Given the description of an element on the screen output the (x, y) to click on. 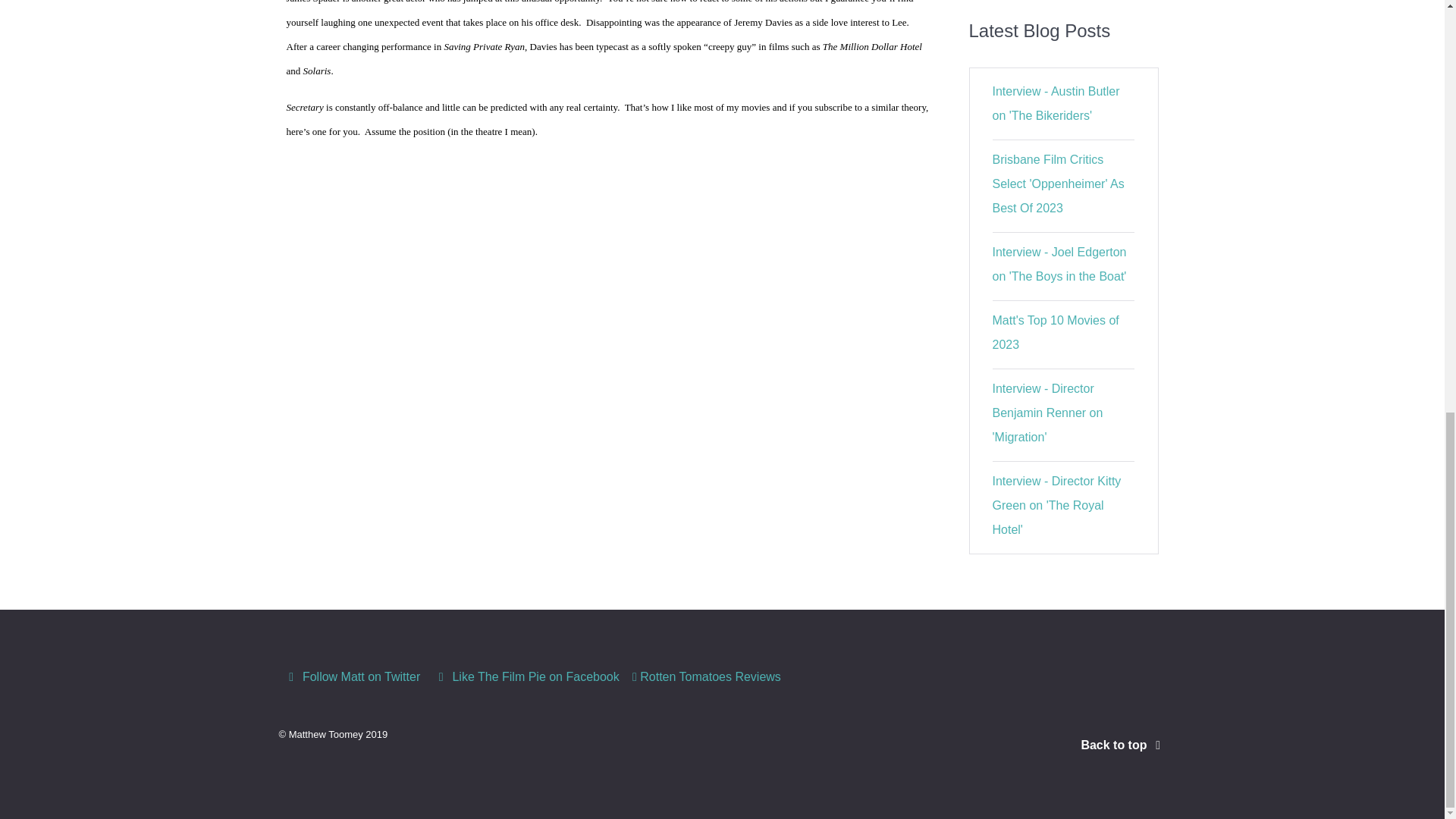
Brisbane Film Critics Select 'Oppenheimer' As Best Of 2023 (1058, 183)
Like The Film Pie on Facebook (527, 676)
Back to top (1123, 744)
Follow Matt on Twitter (354, 676)
Follow Matt on Twitter (354, 676)
Interview - Director Benjamin Renner on 'Migration' (1047, 412)
Rotten Tomatoes Reviews (706, 676)
Rotten Tomatoes Reviews (706, 676)
Interview - Director Kitty Green on 'The Royal Hotel' (1056, 505)
Matt's Top 10 Movies of 2023 (1055, 332)
Interview - Austin Butler on 'The Bikeriders' (1055, 103)
Interview - Joel Edgerton on 'The Boys in the Boat' (1059, 263)
Like The Film Pie on Facebook (527, 676)
